Given the description of an element on the screen output the (x, y) to click on. 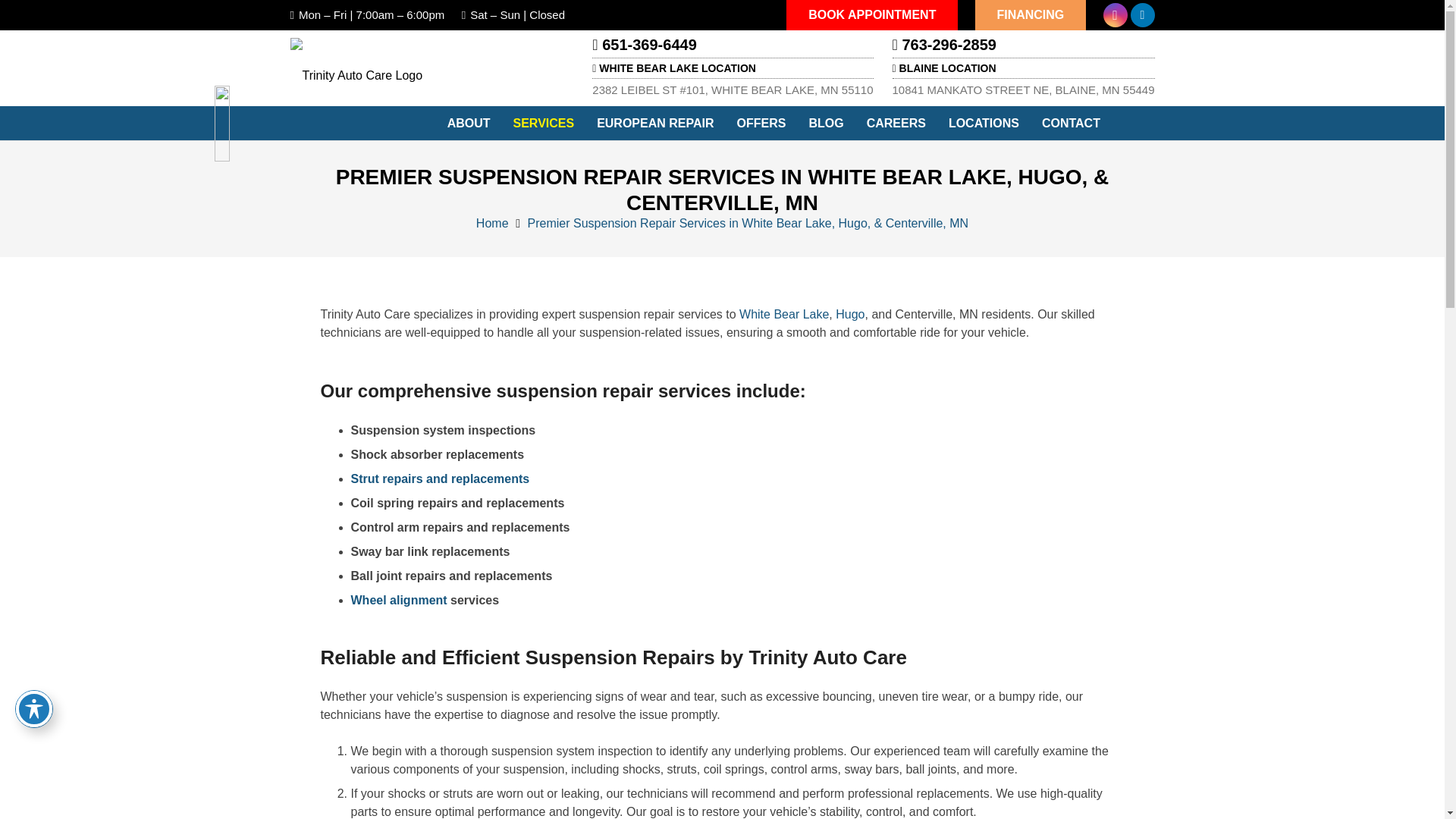
EUROPEAN REPAIR (655, 123)
BOOK APPOINTMENT (872, 15)
ABOUT (468, 123)
651-369-6449 (643, 44)
10841 MANKATO STREET NE, BLAINE, MN 55449 (1023, 89)
763-296-2859 (943, 44)
Instagram (1114, 15)
LinkedIn (1141, 15)
SERVICES (544, 123)
FINANCING (1030, 15)
